Given the description of an element on the screen output the (x, y) to click on. 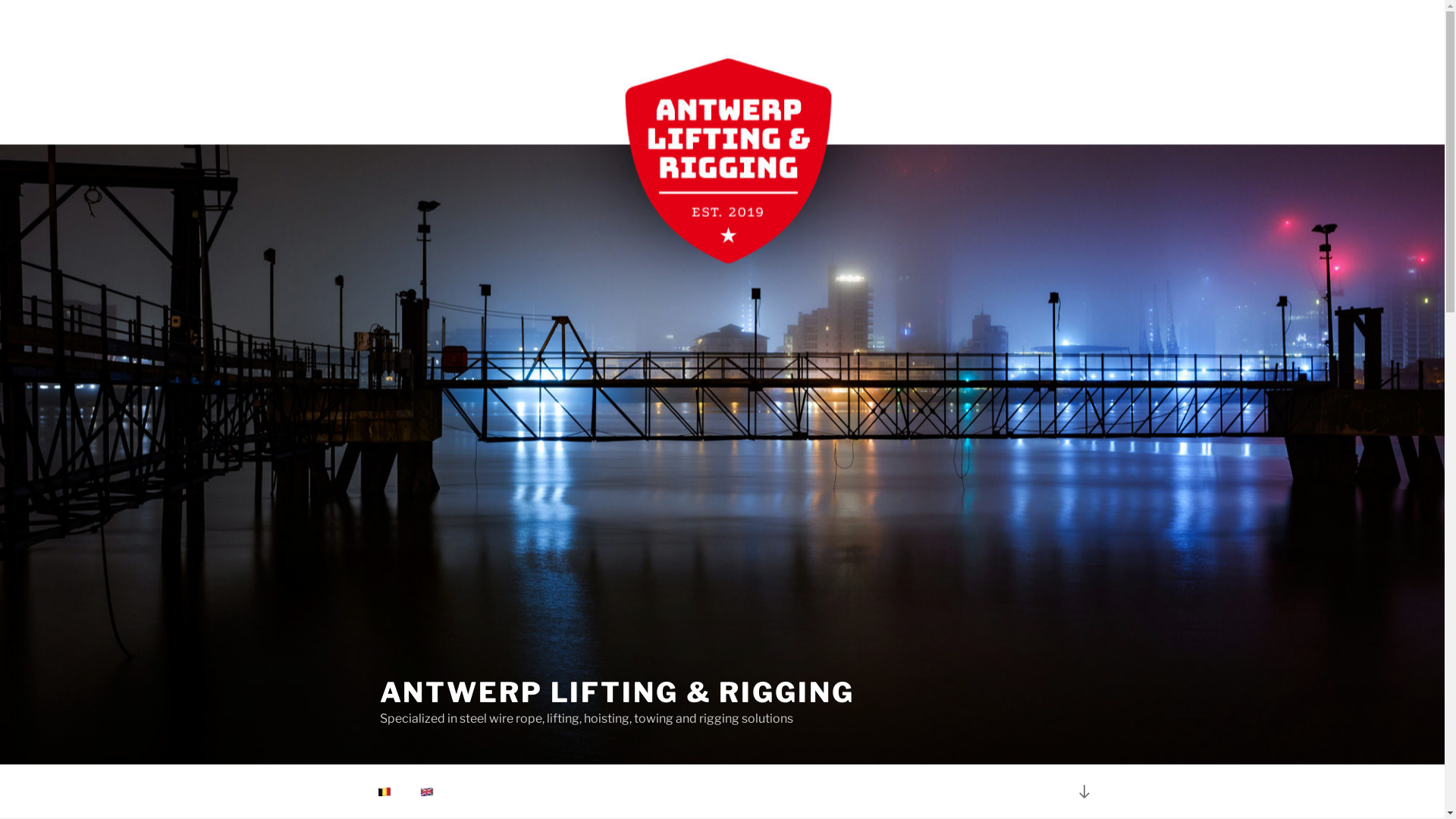
English Element type: hover (426, 791)
ANTWERP LIFTING & RIGGING Element type: text (616, 692)
Scroll down to content Element type: text (1083, 790)
Nederlands Element type: hover (384, 791)
Skip to content Element type: text (0, 0)
